Given the description of an element on the screen output the (x, y) to click on. 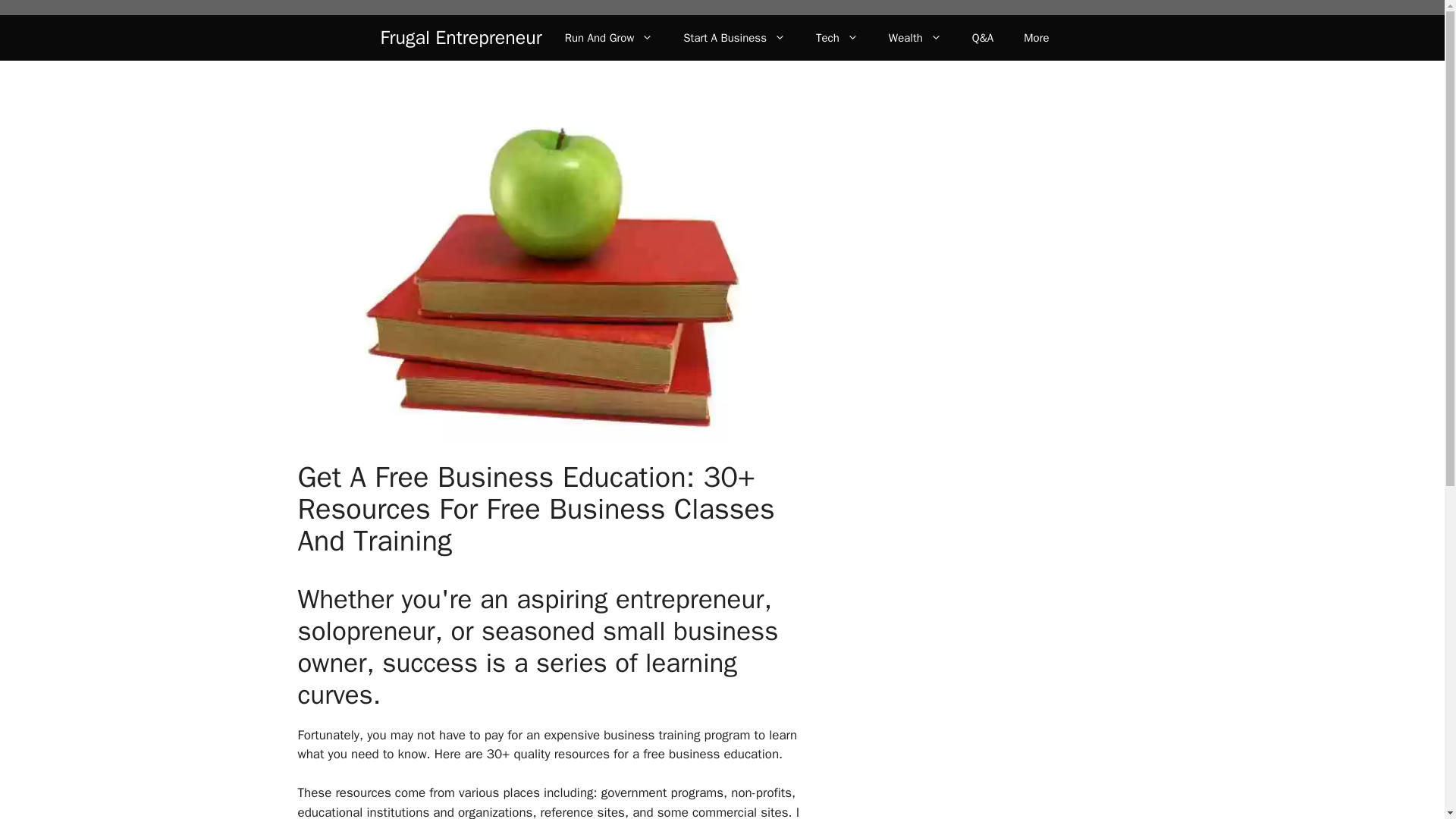
Tech (836, 37)
Run And Grow (609, 37)
Frugal Entrepreneur (460, 37)
Start A Business (734, 37)
